Given the description of an element on the screen output the (x, y) to click on. 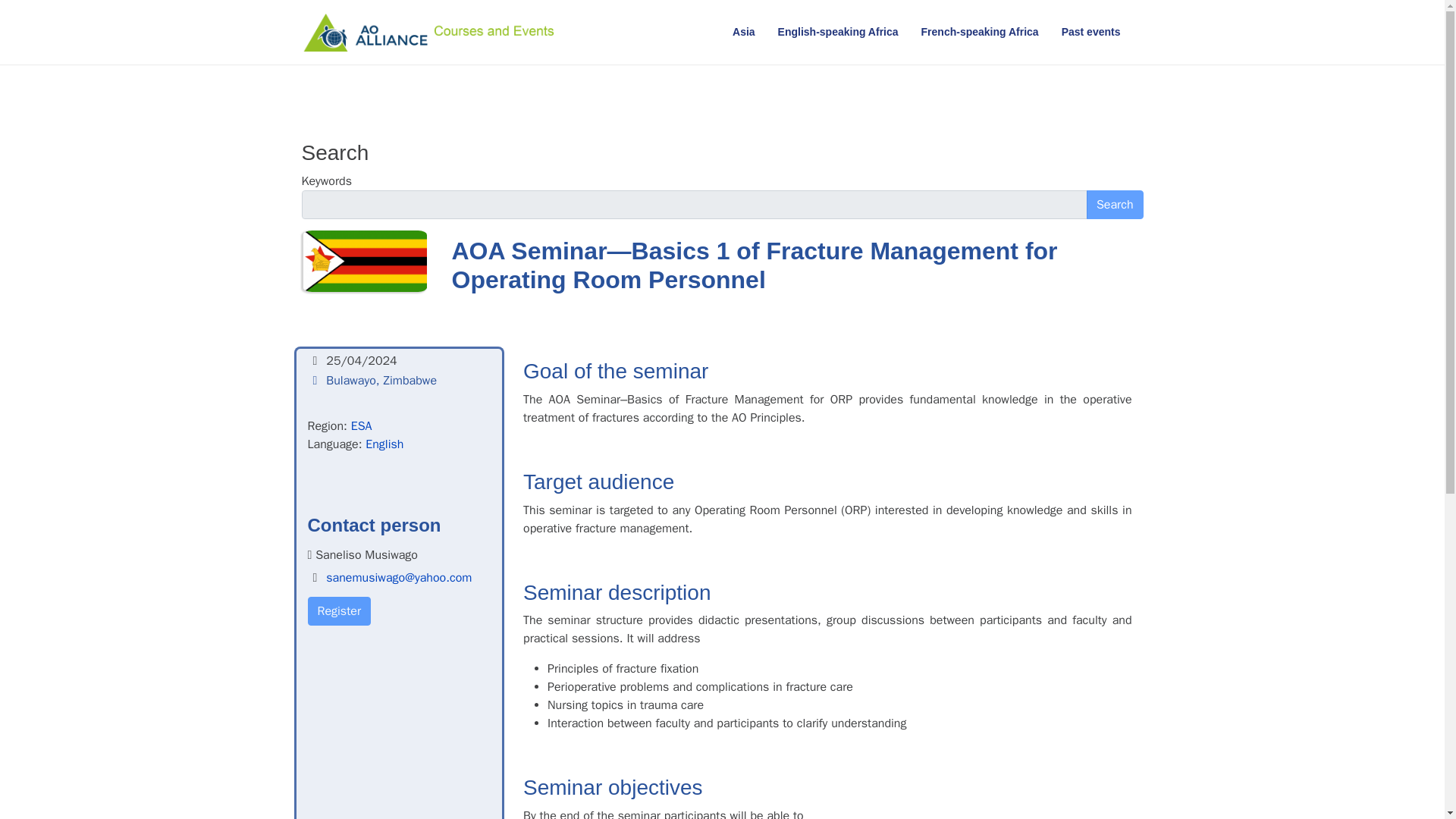
Bulawayo, Zimbabwe (381, 380)
English (384, 444)
Past events (1090, 32)
French-speaking Africa (979, 32)
Search (1114, 204)
French-Speaking Africa (979, 32)
ESA (361, 426)
English-speaking Africa (838, 32)
Past events (1090, 32)
Register (339, 611)
English Speaking Africa (838, 32)
